Given the description of an element on the screen output the (x, y) to click on. 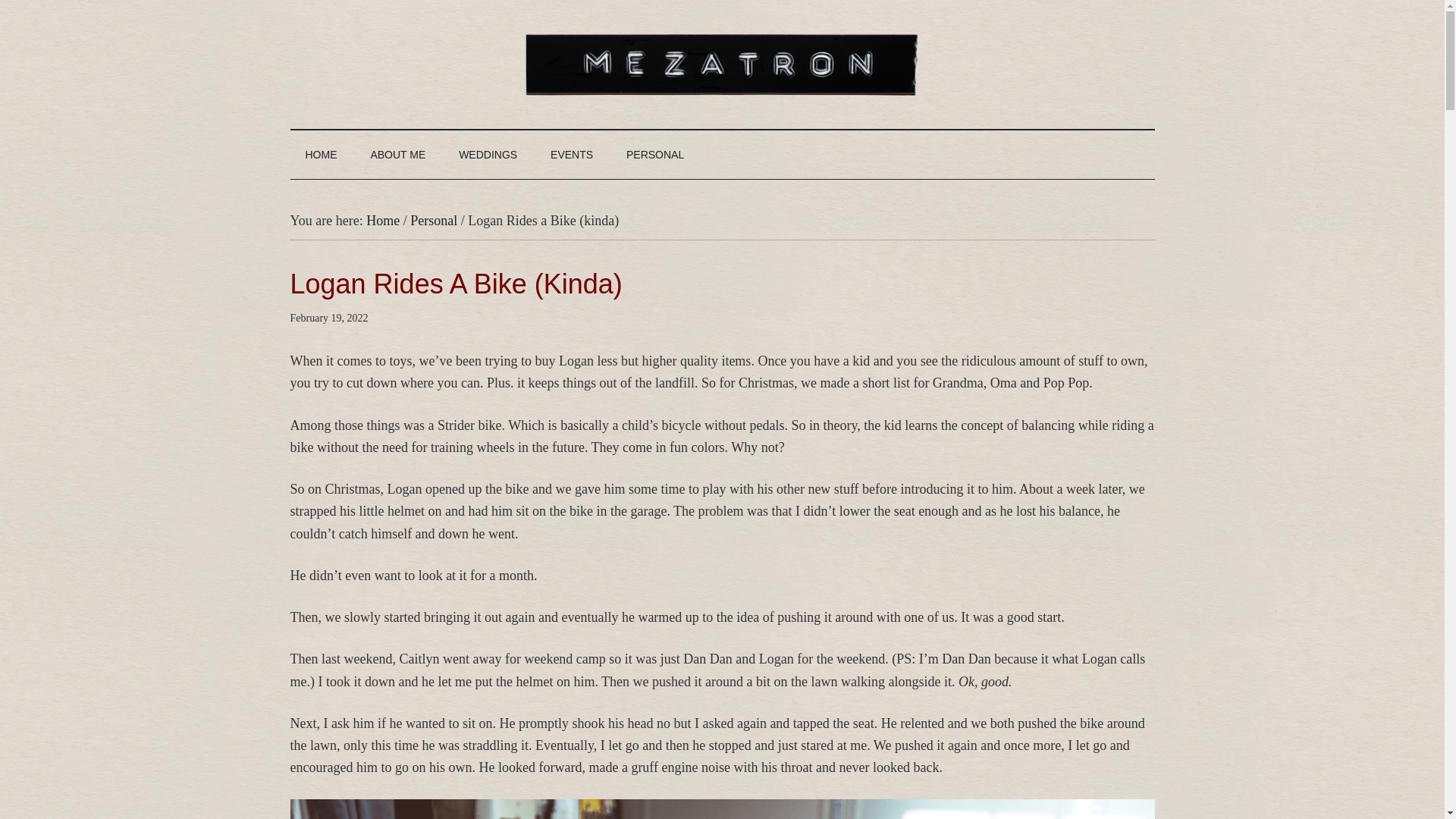
Home (382, 220)
WEDDINGS (488, 154)
EVENTS (571, 154)
ABOUT ME (398, 154)
Personal (433, 220)
PERSONAL (654, 154)
HOME (320, 154)
MEZATRON (721, 64)
